Given the description of an element on the screen output the (x, y) to click on. 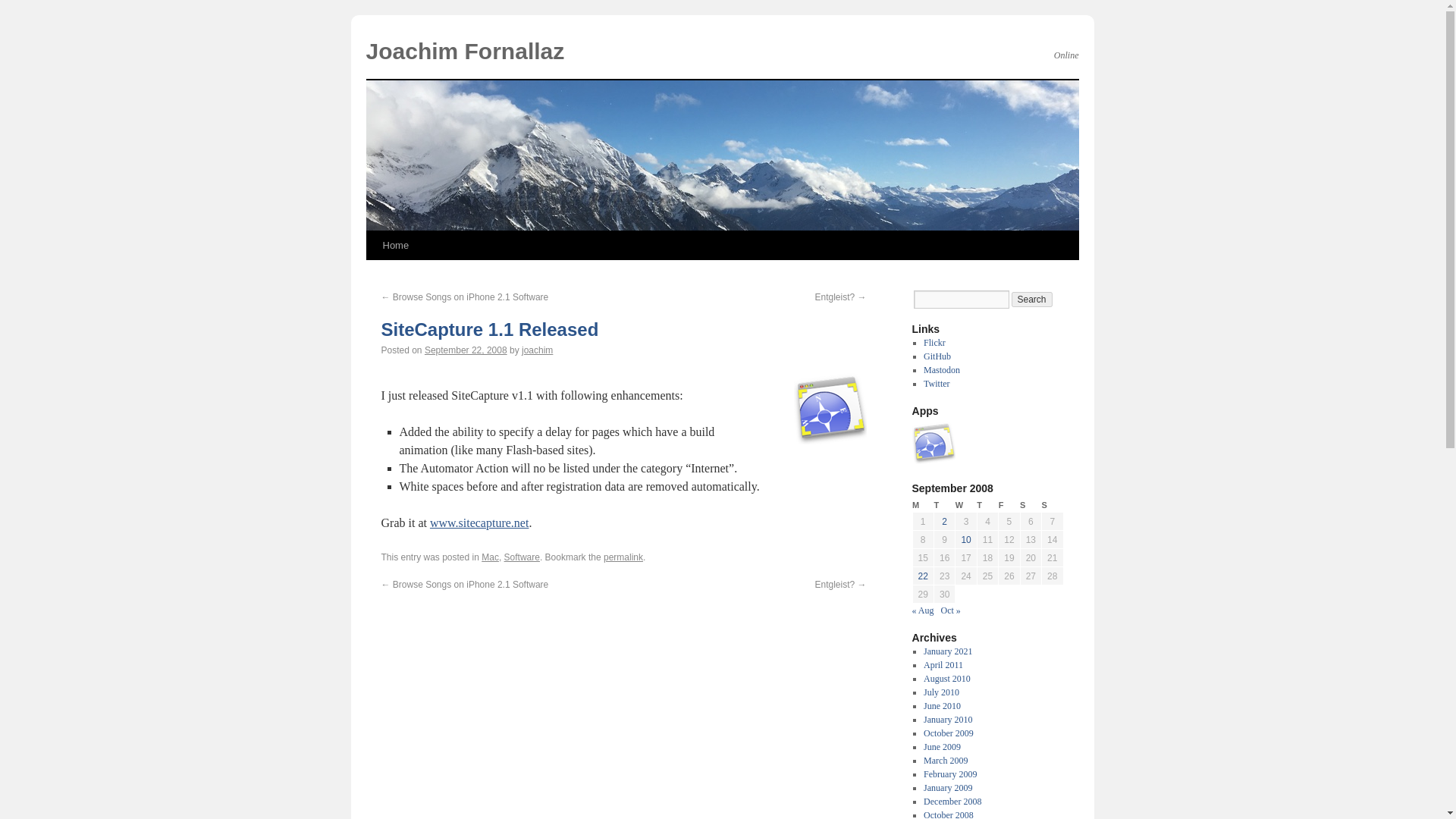
June 2009 (941, 747)
Mac (490, 557)
Home (395, 245)
View all posts by joachim (537, 349)
Tuesday (944, 504)
June 2010 (941, 706)
Software (521, 557)
10 (965, 539)
January 2021 (947, 651)
Twitter (936, 383)
My Profile on GitHub (936, 356)
Search (1031, 299)
January 2009 (947, 787)
April 2011 (942, 665)
Joachim Fornallaz (464, 50)
